Given the description of an element on the screen output the (x, y) to click on. 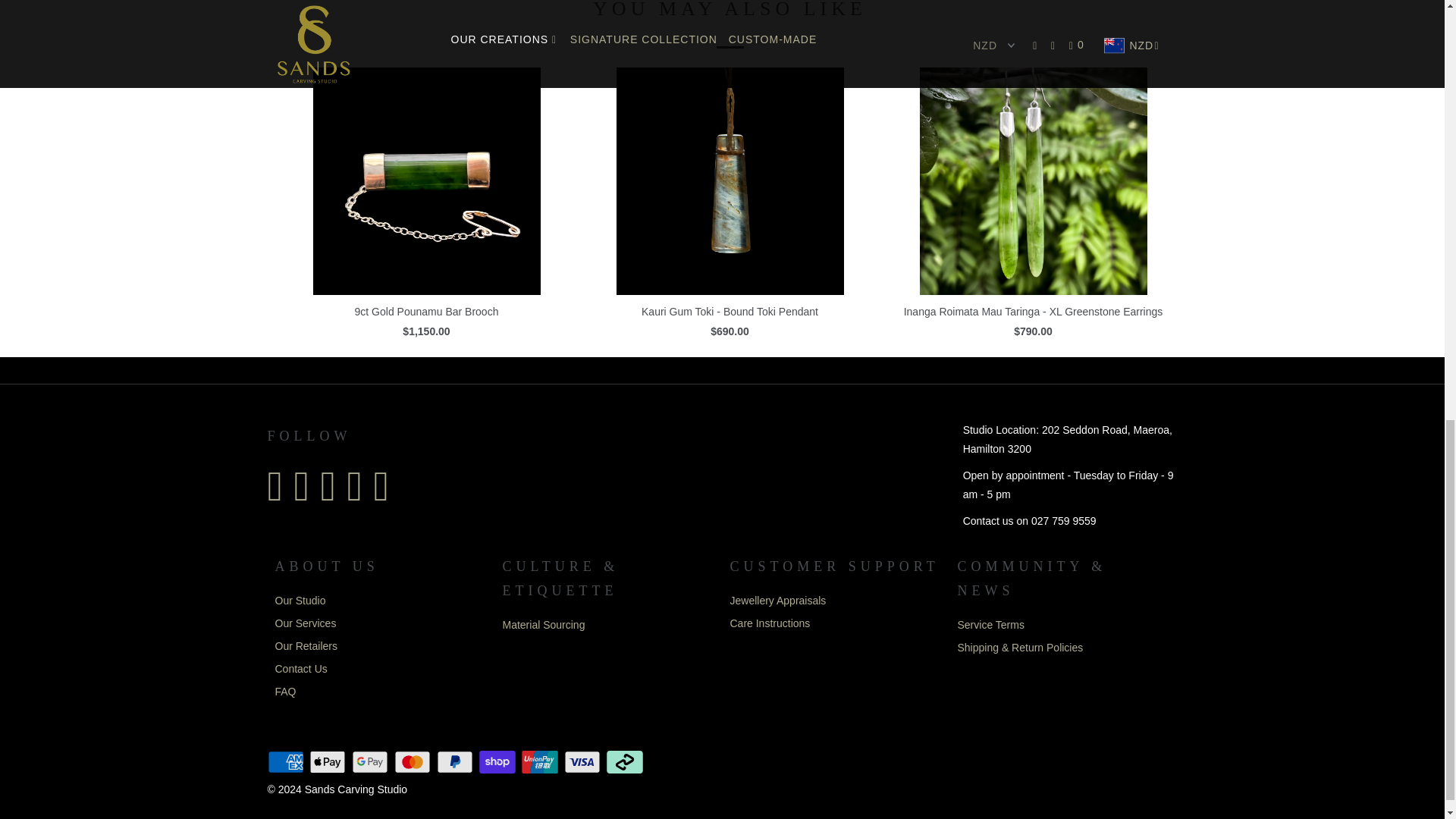
Shop Pay (498, 762)
PayPal (456, 762)
Union Pay (540, 762)
Apple Pay (328, 762)
American Express (285, 762)
Google Pay (371, 762)
Mastercard (413, 762)
Visa (584, 762)
